Given the description of an element on the screen output the (x, y) to click on. 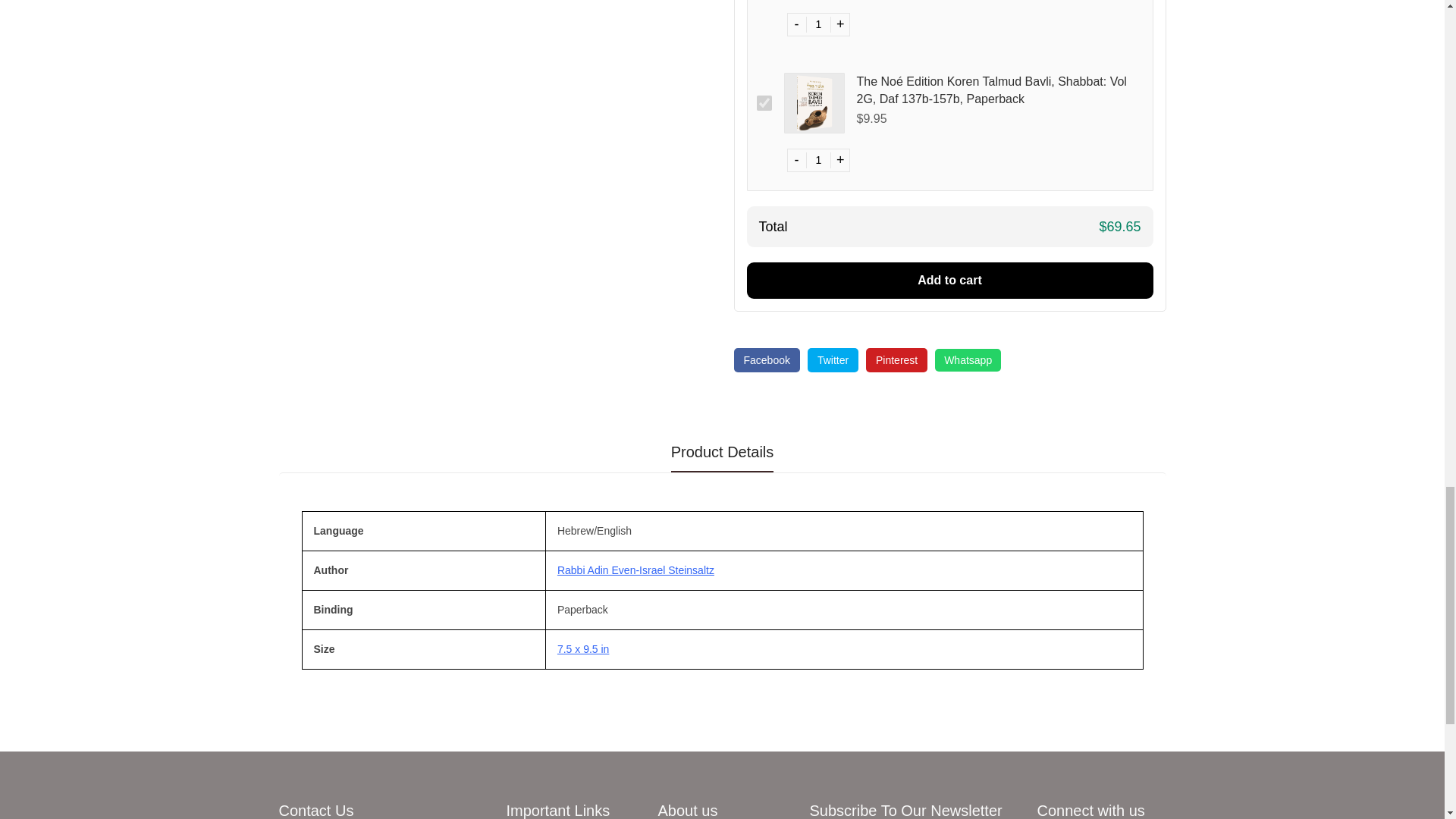
Share on Pinterest (896, 360)
Share on Twitter (833, 360)
Share on Facebook (766, 360)
on (764, 102)
